Given the description of an element on the screen output the (x, y) to click on. 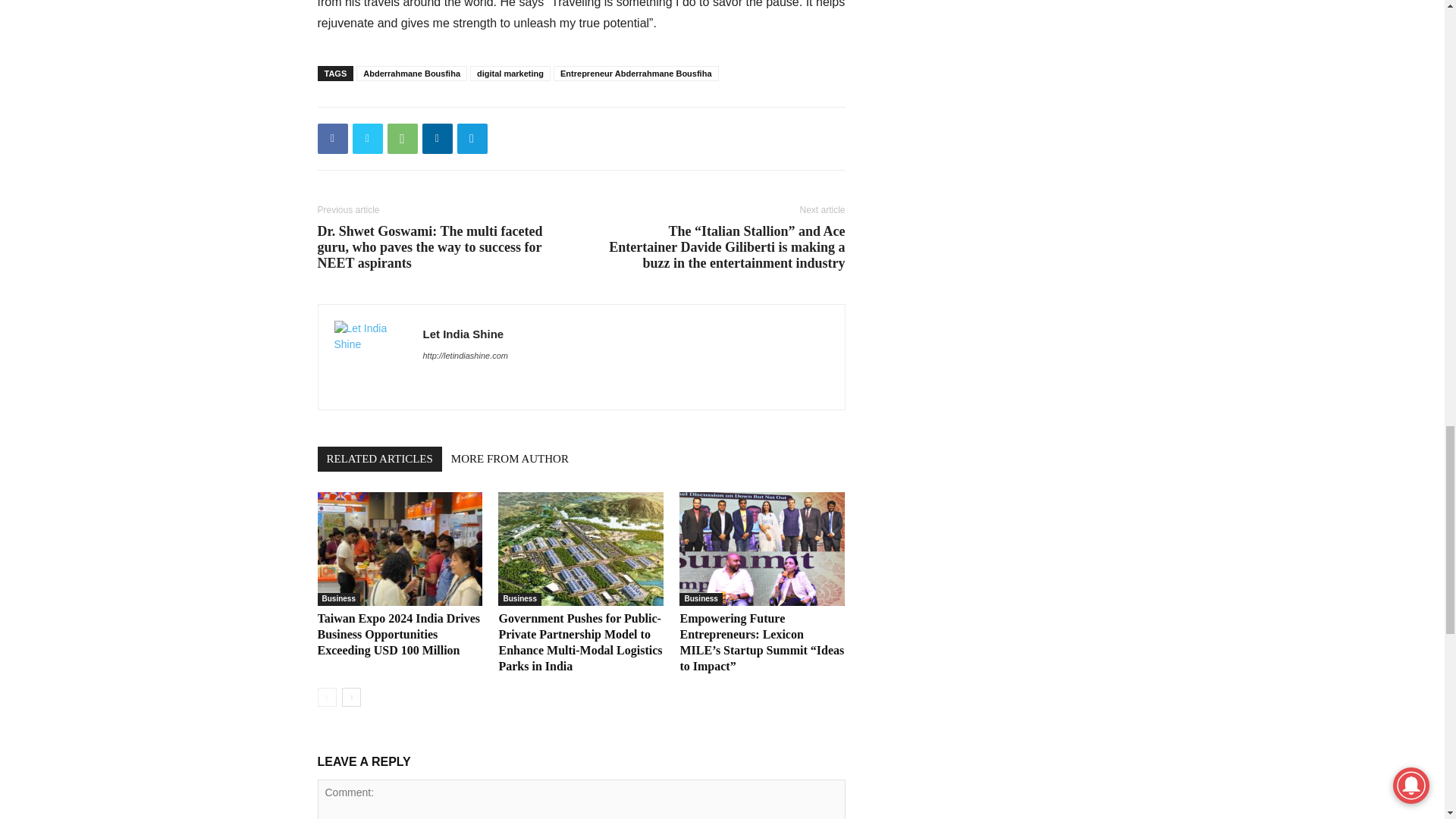
Facebook (332, 138)
WhatsApp (401, 138)
Twitter (366, 138)
